Given the description of an element on the screen output the (x, y) to click on. 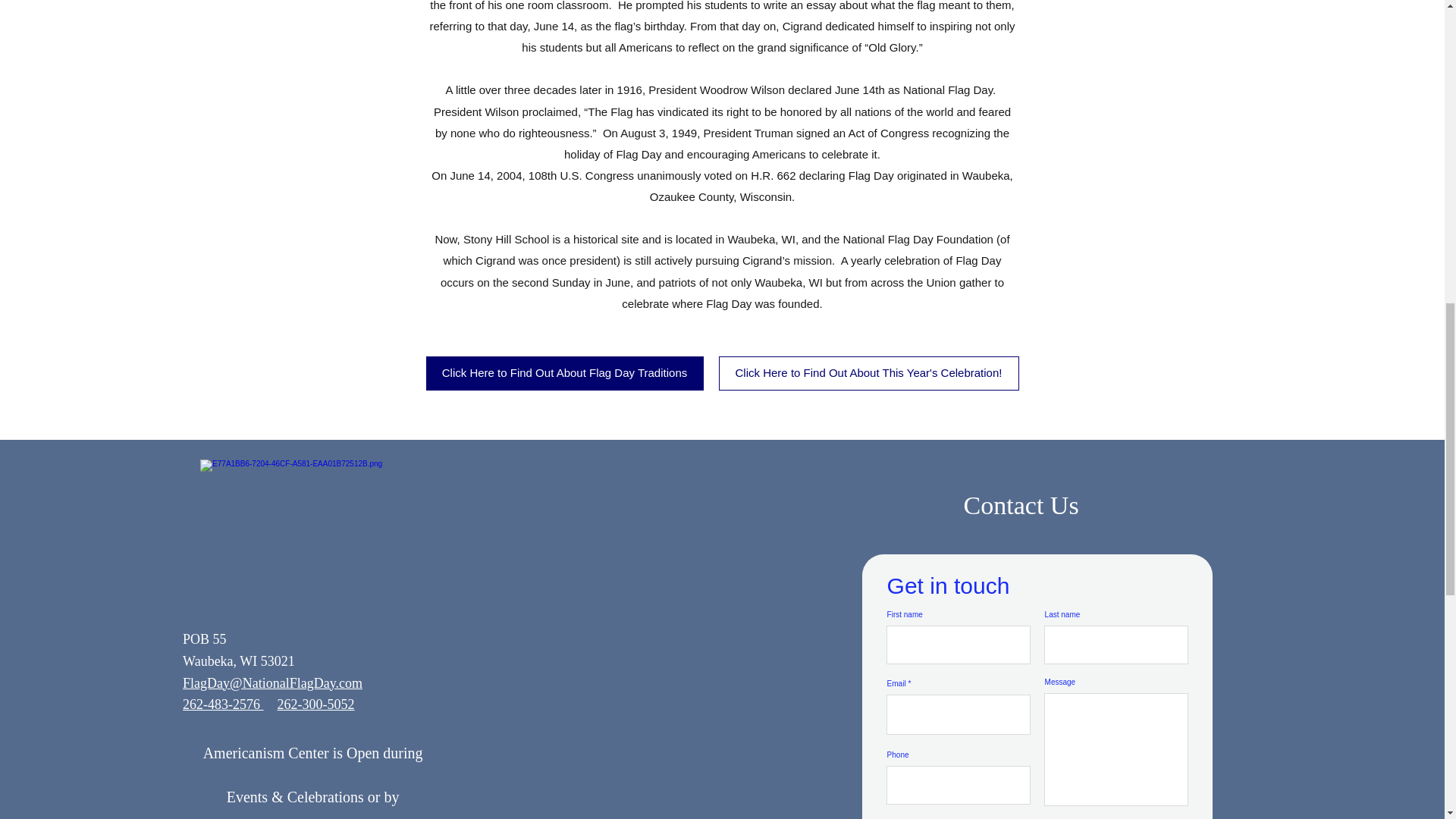
262-300-5052 (316, 703)
Click Here to Find Out About This Year's Celebration! (869, 373)
262-483-2576 (223, 703)
Click Here to Find Out About Flag Day Traditions (564, 373)
